Given the description of an element on the screen output the (x, y) to click on. 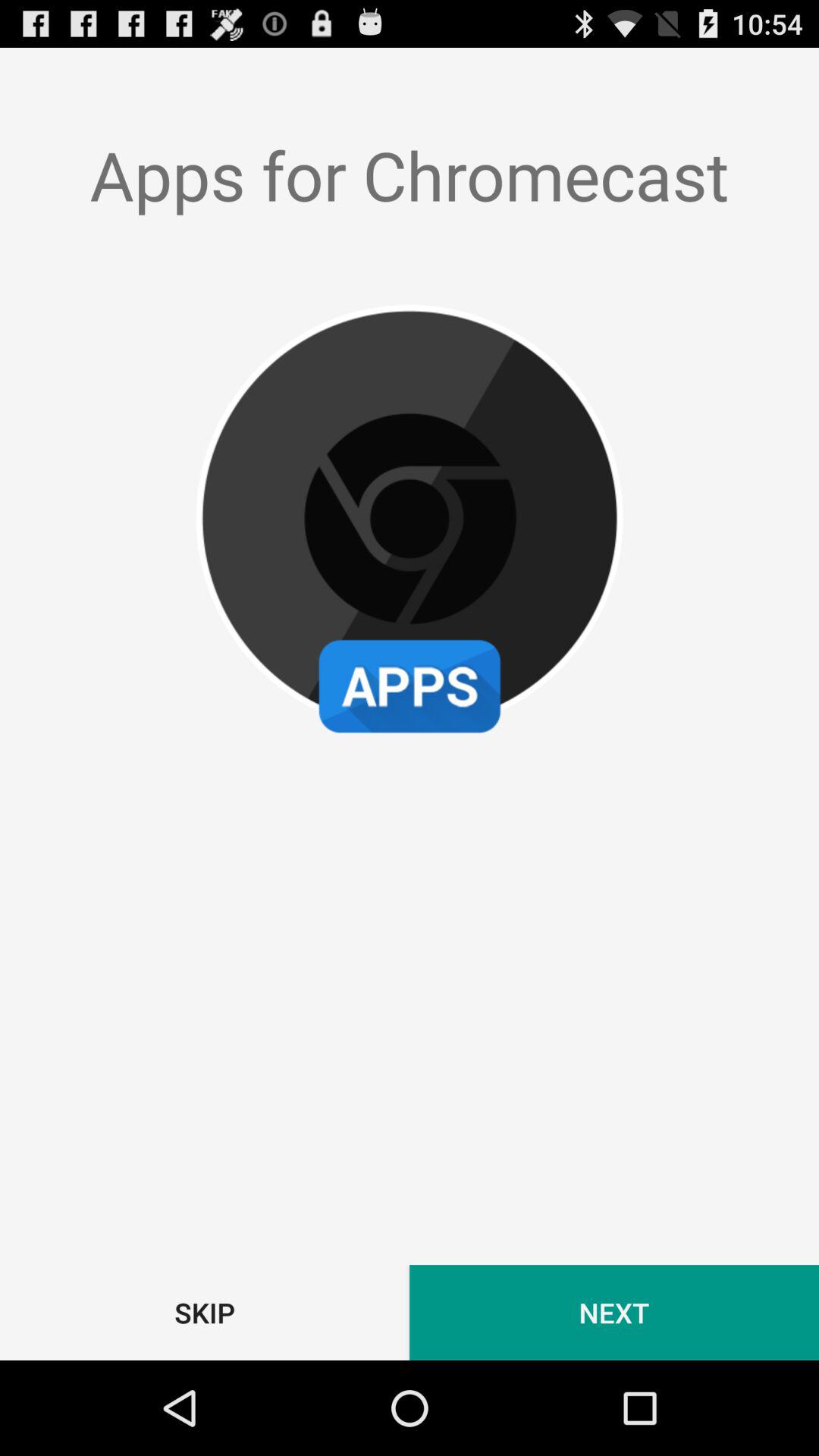
select the next (614, 1312)
